Given the description of an element on the screen output the (x, y) to click on. 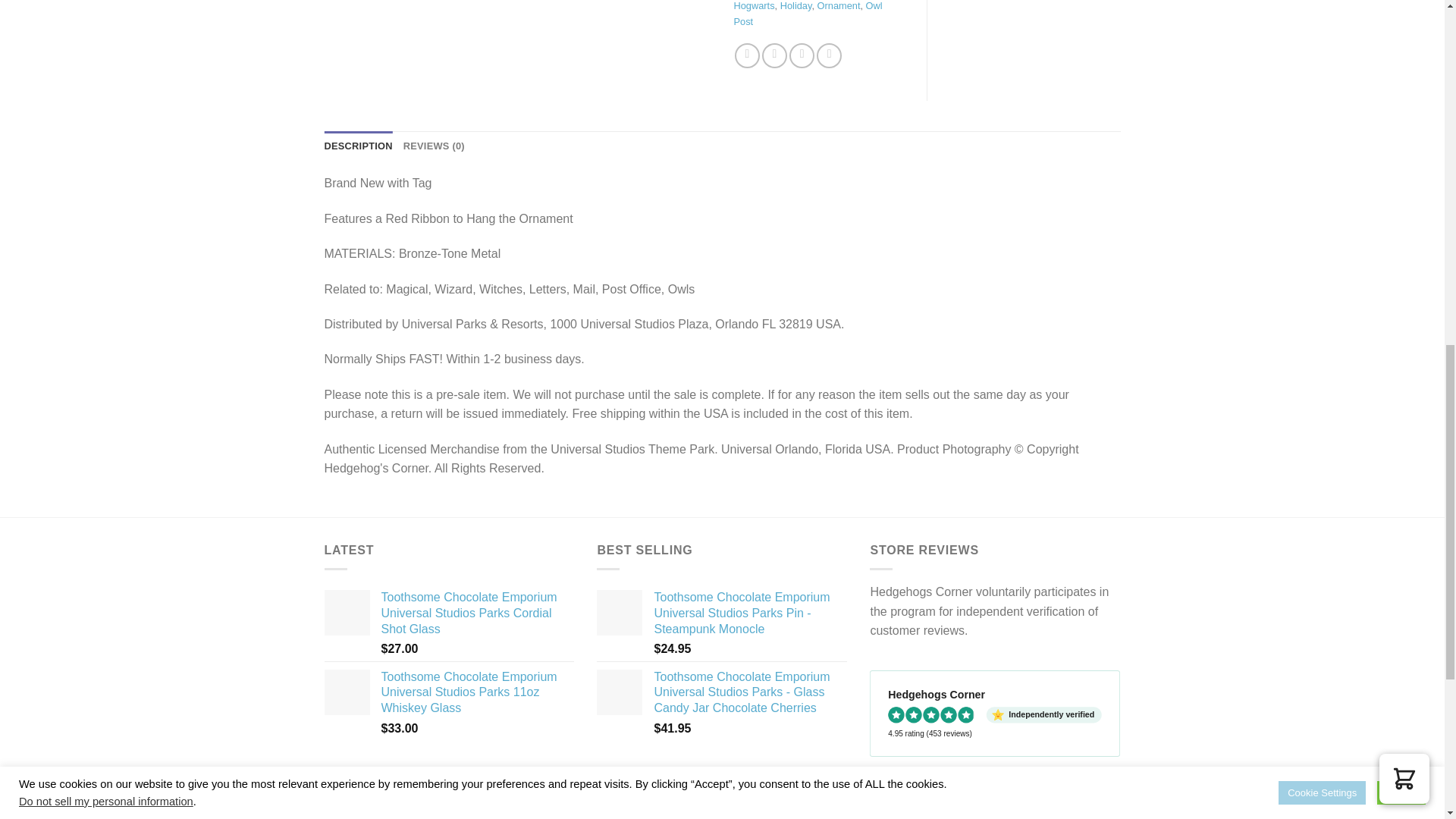
Share on Facebook (747, 55)
